Given the description of an element on the screen output the (x, y) to click on. 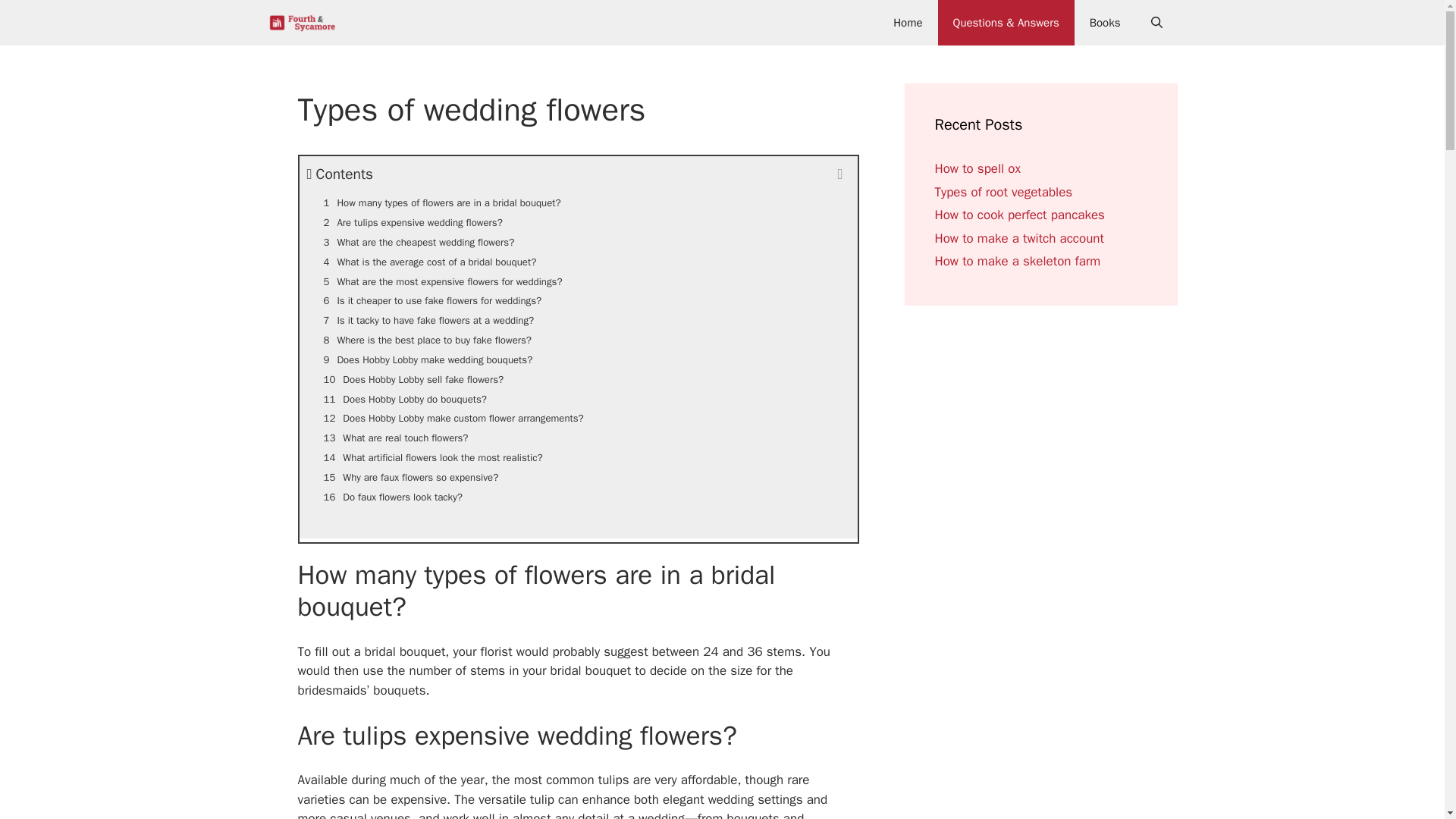
Why are faux flowers so expensive? (577, 477)
What artificial flowers look the most realistic? (577, 457)
Does Hobby Lobby sell fake flowers? (577, 379)
Is it tacky to have fake flowers at a wedding? (577, 320)
How many types of flowers are in a bridal bouquet? (577, 202)
Does Hobby Lobby make wedding bouquets? (577, 360)
Books (1104, 22)
Are tulips expensive wedding flowers? (577, 222)
Is it cheaper to use fake flowers for weddings? (577, 301)
Does Hobby Lobby do bouquets? (577, 399)
